Given the description of an element on the screen output the (x, y) to click on. 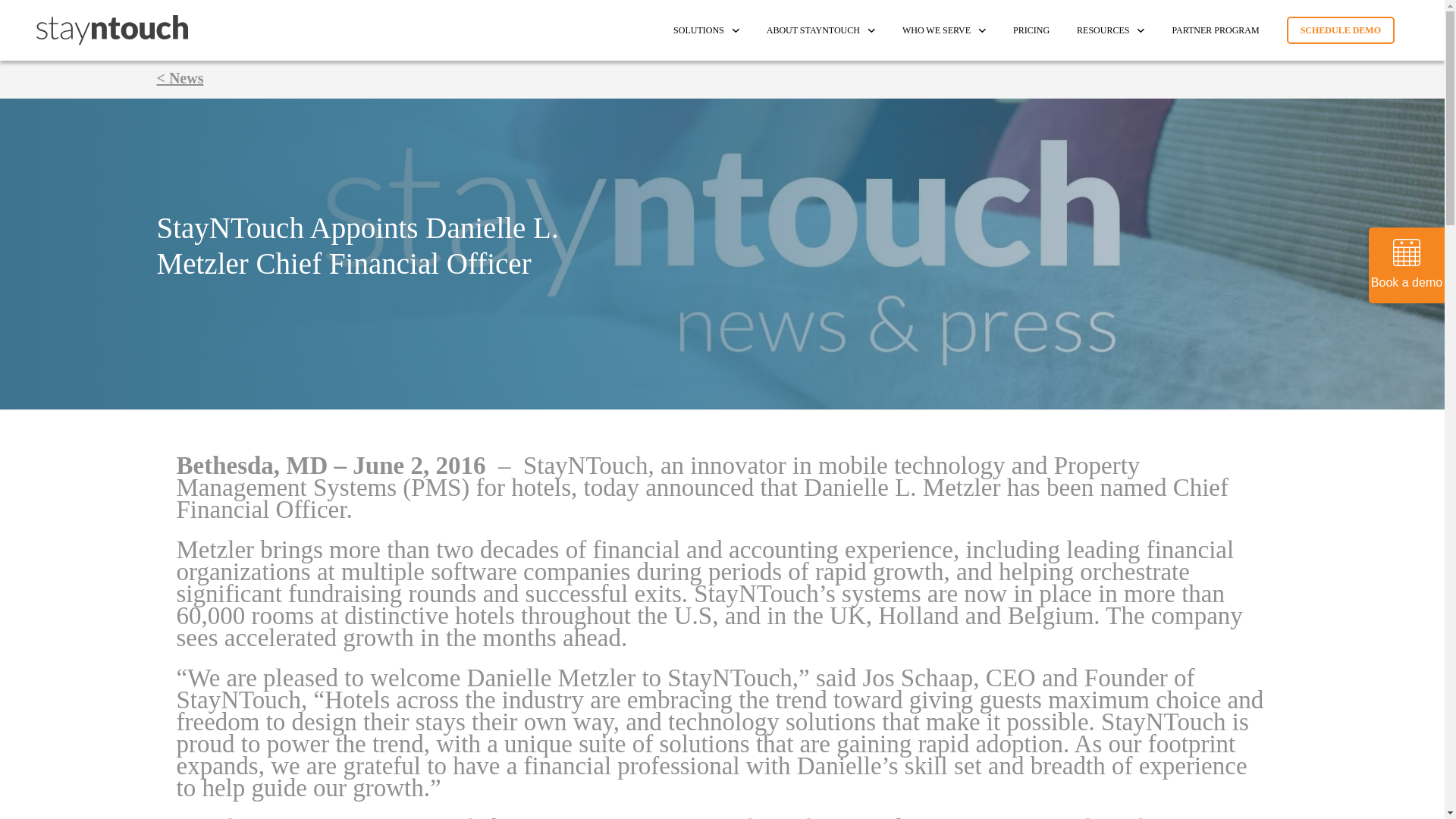
WHO WE SERVE (943, 30)
ABOUT STAYNTOUCH (821, 30)
RESOURCES (1110, 30)
PARTNER PROGRAM (1215, 30)
SOLUTIONS (705, 30)
SCHEDULE DEMO (1340, 30)
